Given the description of an element on the screen output the (x, y) to click on. 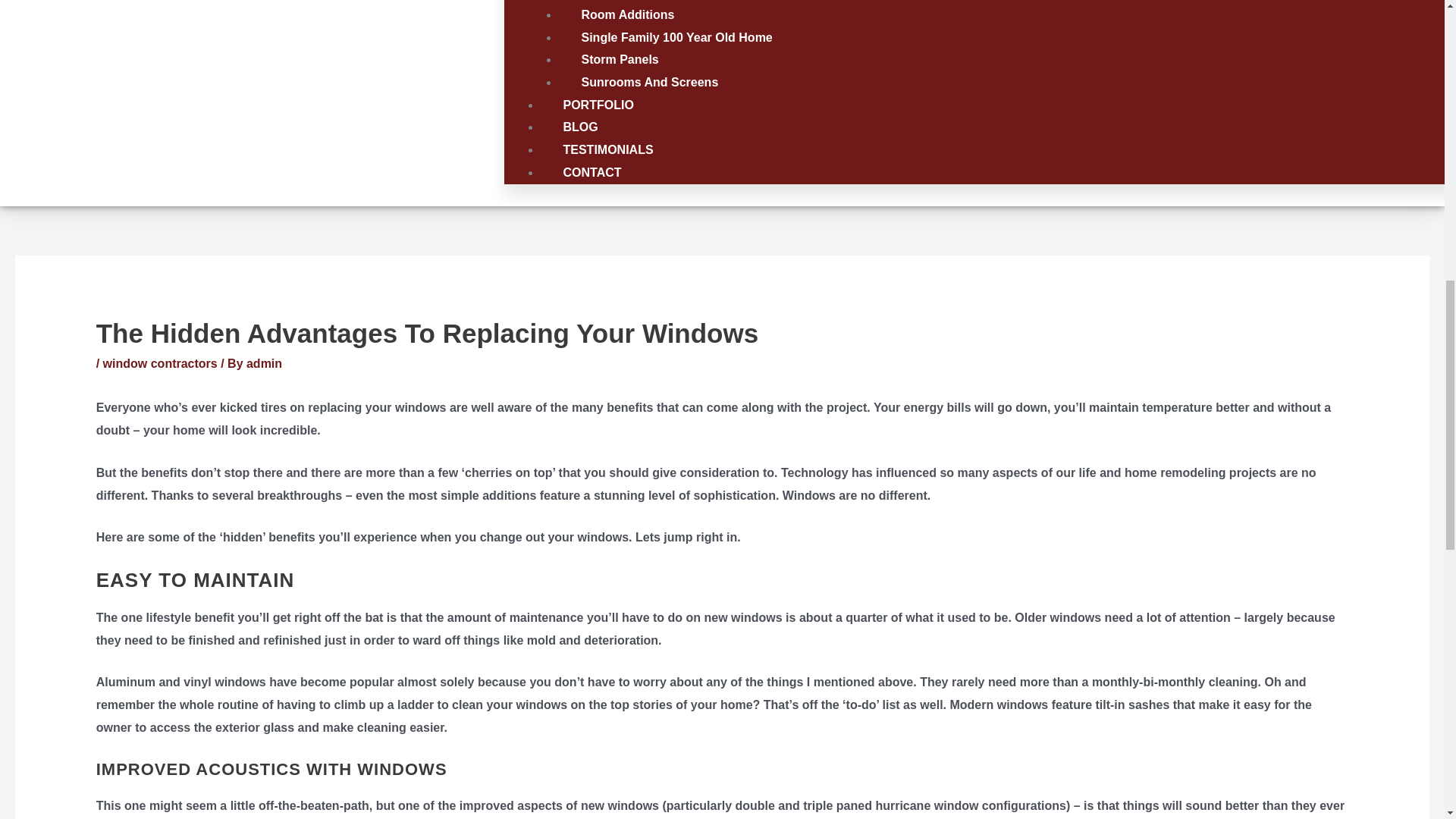
View all posts by admin (264, 363)
Single Family 100 Year Old Home (675, 37)
Room Additions (627, 14)
Roll Down Shutters (636, 2)
Storm Panels (619, 59)
